Given the description of an element on the screen output the (x, y) to click on. 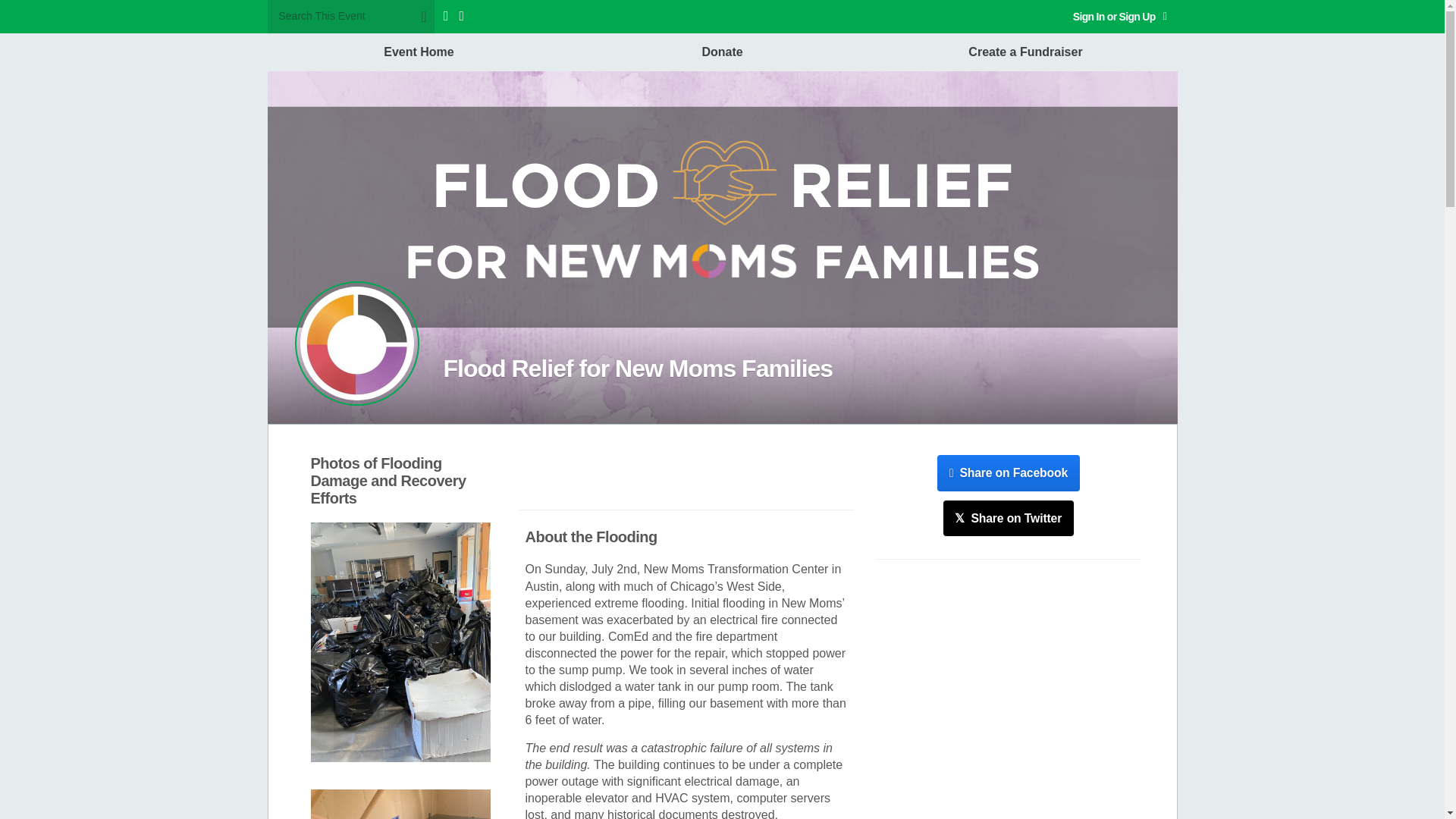
Event Home: Flood Relief for New Moms Families (357, 343)
Sign In or Sign Up (1119, 16)
Share on Facebook (1008, 473)
Donate (721, 52)
Create a Fundraiser (1024, 52)
Event Home (418, 52)
Donate Now! (685, 475)
